Given the description of an element on the screen output the (x, y) to click on. 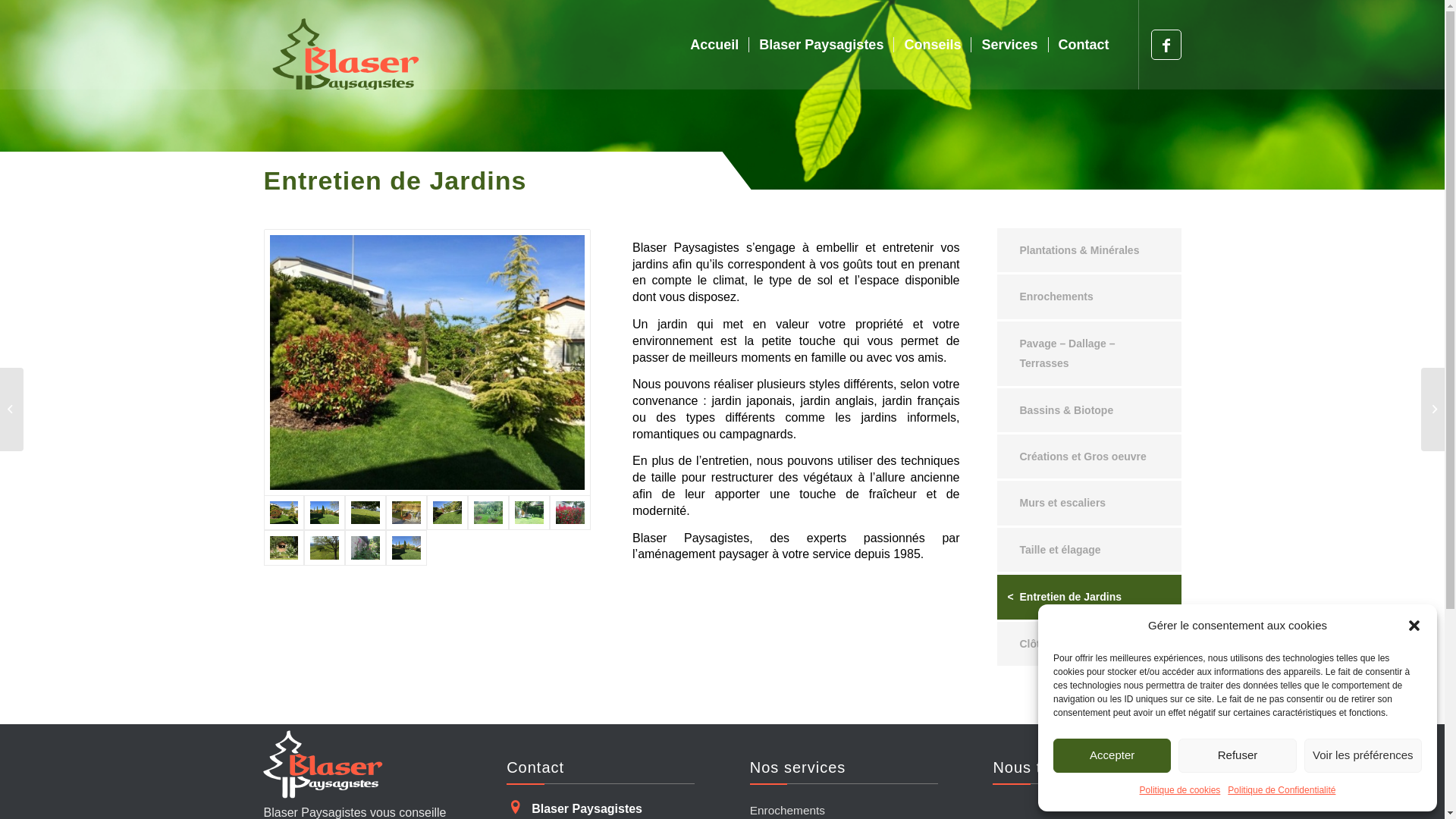
Entretien Jardin Blaser Paysagiste (4) Element type: hover (487, 512)
Entretien Jardin Blaser Paysagiste (26) Element type: hover (405, 547)
Entretien de Jardins Element type: text (1088, 596)
Facebook Element type: hover (1166, 44)
Murs et escaliers Element type: text (1088, 502)
Entretien Jardin Blaser Paysagiste (36) Element type: hover (405, 512)
Enrochements Element type: text (1088, 296)
11011836_1416966238623144_9051253976333822342_n Element type: hover (426, 362)
Contact Element type: text (1083, 44)
11210445_1416966198623148_1060325367066661783_n Element type: hover (324, 512)
Entretien Jardin Blaser Paysagiste (31) Element type: hover (365, 512)
Entretien Jardin Blaser Paysagiste (2) Element type: hover (528, 512)
Politique de cookies Element type: text (1179, 790)
Entretien Jardin Blaser Paysagiste (33) Element type: hover (365, 547)
Accepter Element type: text (1111, 755)
11011836_1416966238623144_9051253976333822342_n Element type: hover (283, 512)
Services Element type: text (1008, 44)
Entretien Jardin Blaser Paysagiste (32) Element type: hover (324, 547)
Entretien Jardin Blaser Paysagiste (21) Element type: hover (569, 512)
Accueil Element type: text (714, 44)
Bassins & Biotope Element type: text (1088, 410)
Blaser Paysagistes Element type: text (820, 44)
11011836_1416966238623144_9051253976333822342_n Element type: hover (426, 362)
Entretien Jardin Blaser Paysagiste (27) Element type: hover (446, 512)
Conseils Element type: text (931, 44)
Entretien Jardin Blaser Paysagiste (23) Element type: hover (283, 547)
Refuser Element type: text (1236, 755)
